Given the description of an element on the screen output the (x, y) to click on. 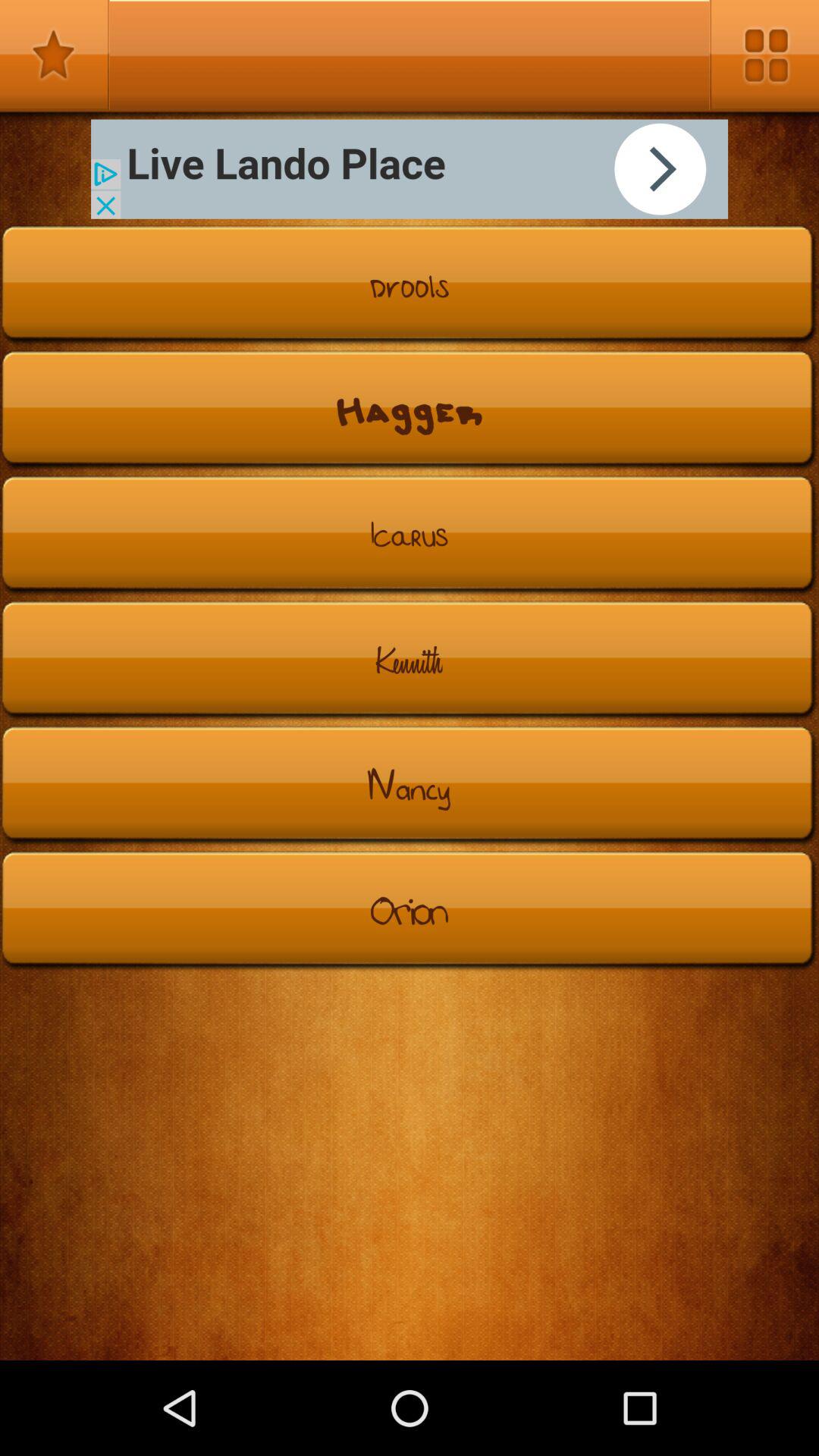
search options (764, 54)
